Given the description of an element on the screen output the (x, y) to click on. 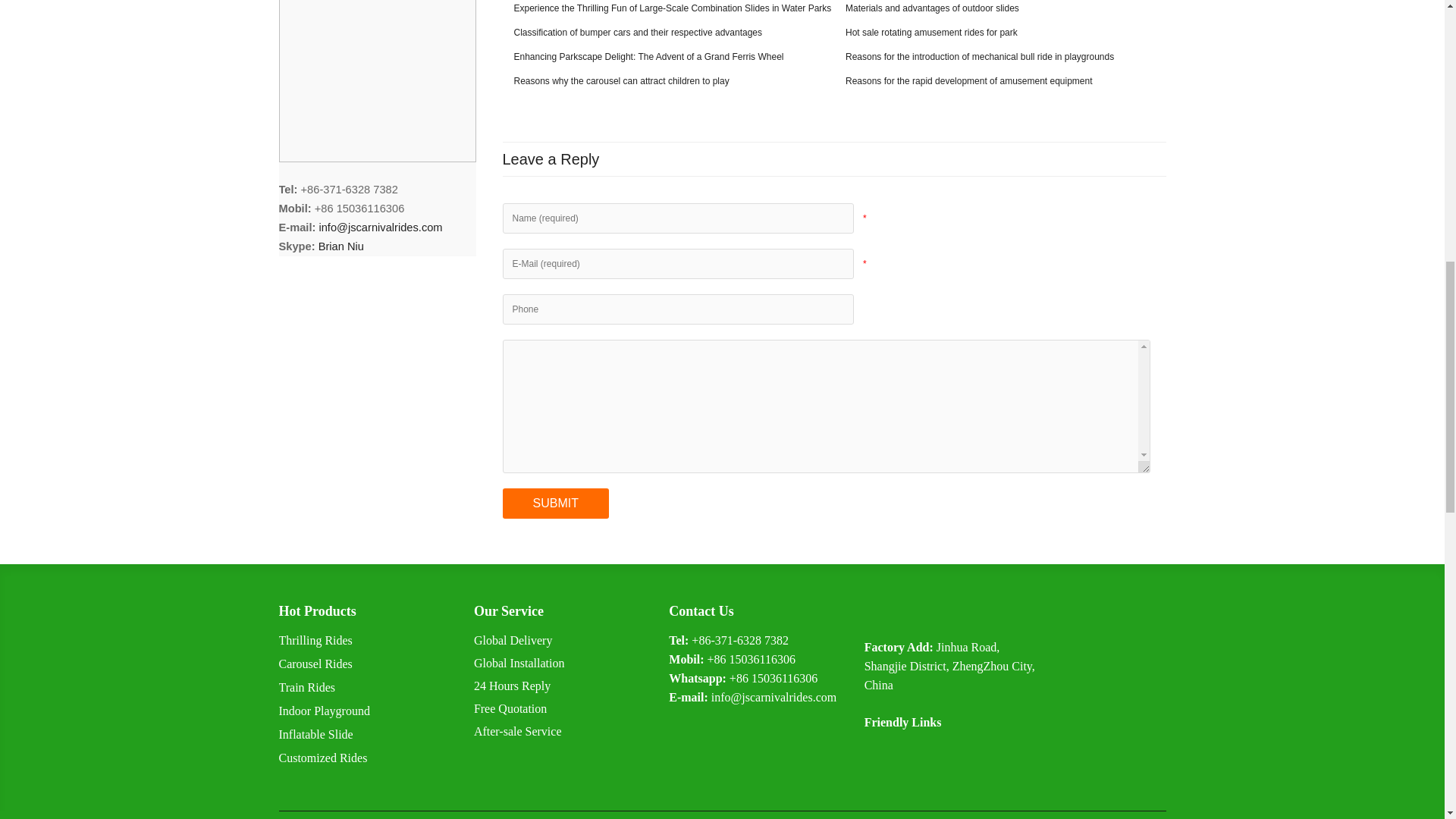
Post Comment (555, 503)
SUBMIT (555, 503)
Materials and advantages of outdoor slides (926, 8)
